Given the description of an element on the screen output the (x, y) to click on. 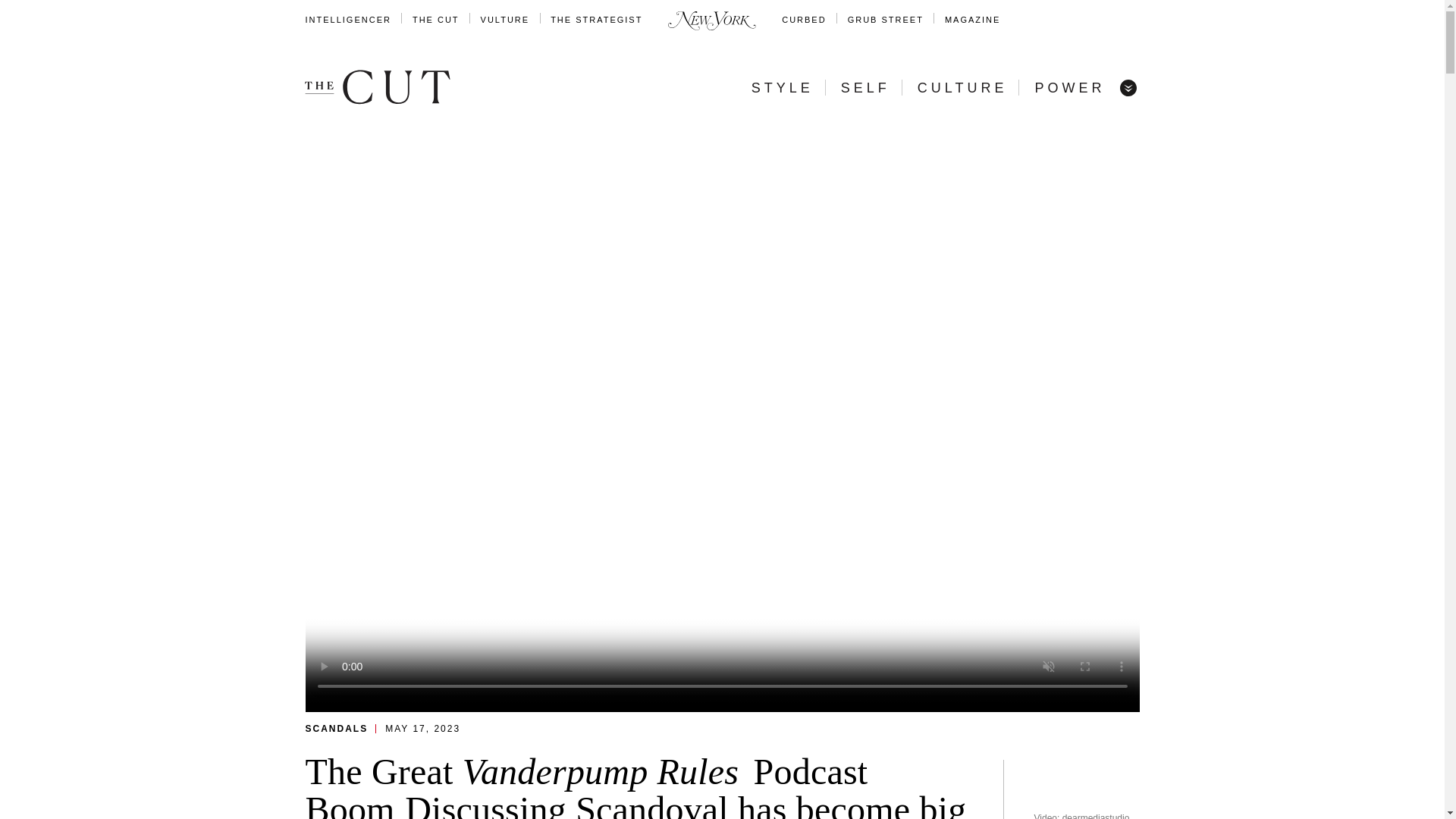
POWER (1069, 87)
THE CUT (436, 19)
GRUB STREET (885, 19)
VULTURE (504, 19)
CULTURE (962, 87)
INTELLIGENCER (347, 19)
Menu (1127, 87)
CURBED (803, 19)
MAGAZINE (972, 19)
THE STRATEGIST (596, 19)
